Given the description of an element on the screen output the (x, y) to click on. 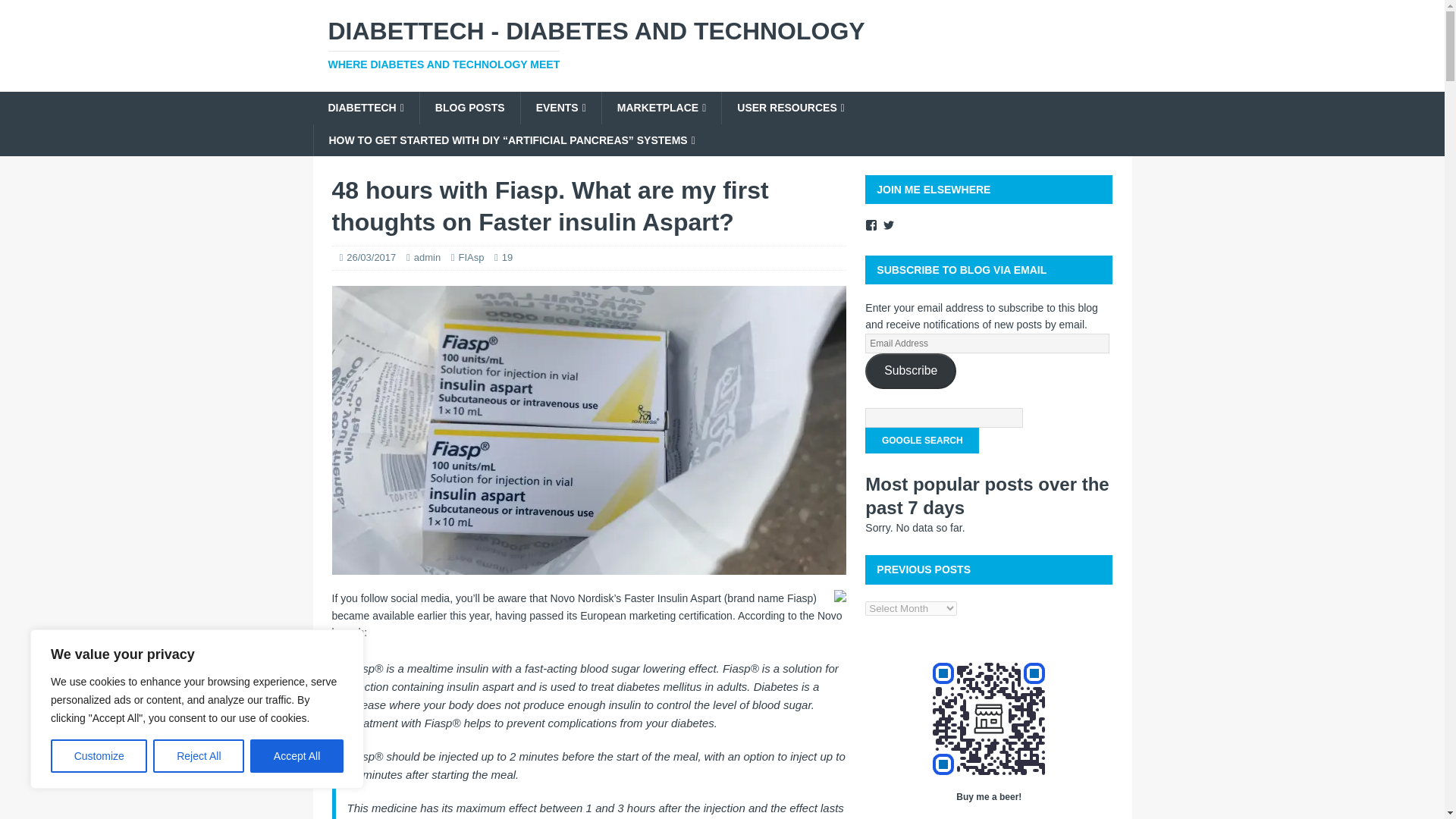
Reject All (198, 756)
Customize (98, 756)
19 (507, 256)
Diabettech - Diabetes and Technology (721, 44)
Accept All (296, 756)
Google search (921, 440)
